Given the description of an element on the screen output the (x, y) to click on. 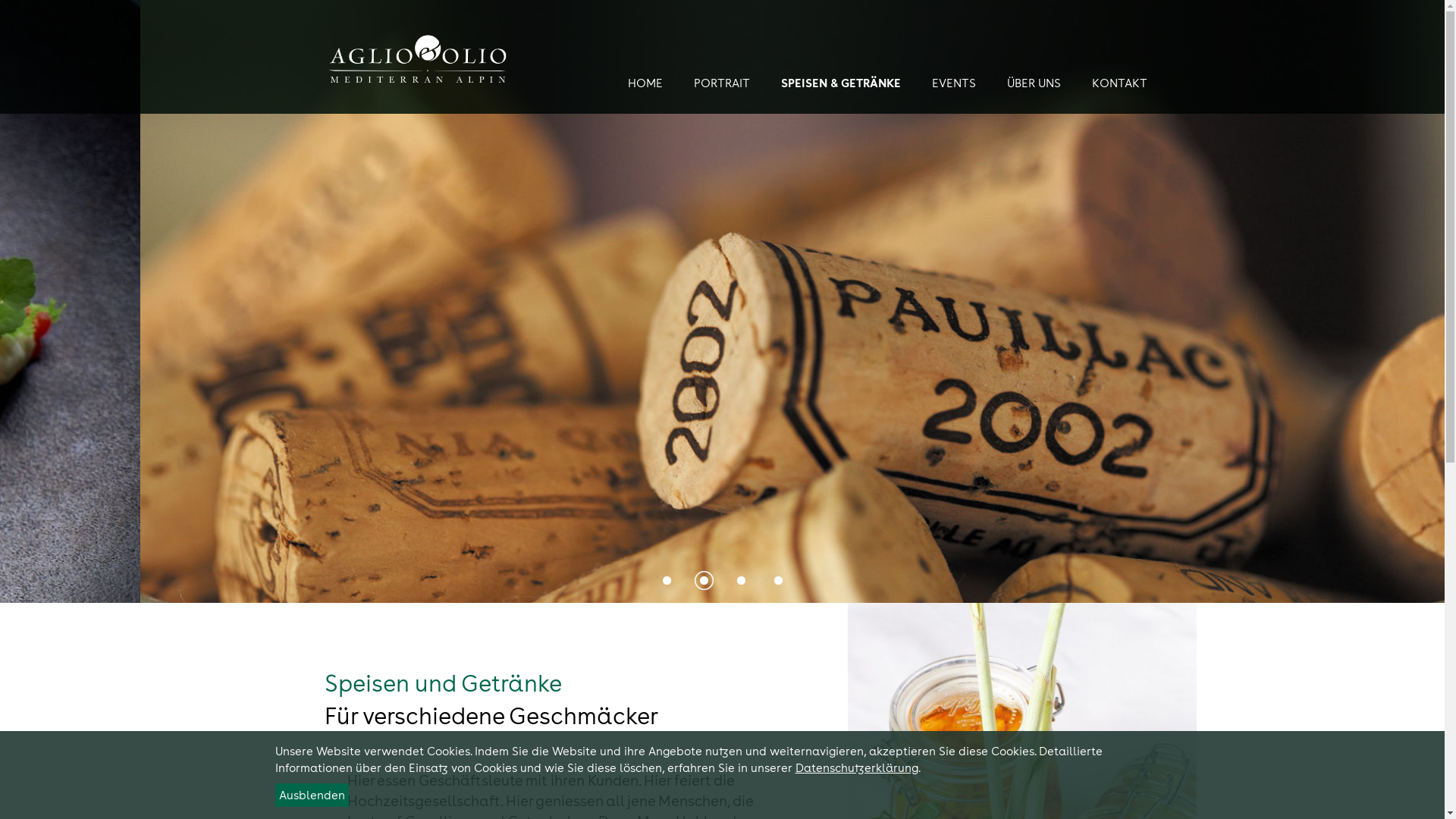
HOME Element type: text (648, 83)
PORTRAIT Element type: text (724, 83)
EVENTS Element type: text (956, 83)
Ausblenden Element type: text (311, 794)
KONTAKT Element type: text (1122, 83)
